Given the description of an element on the screen output the (x, y) to click on. 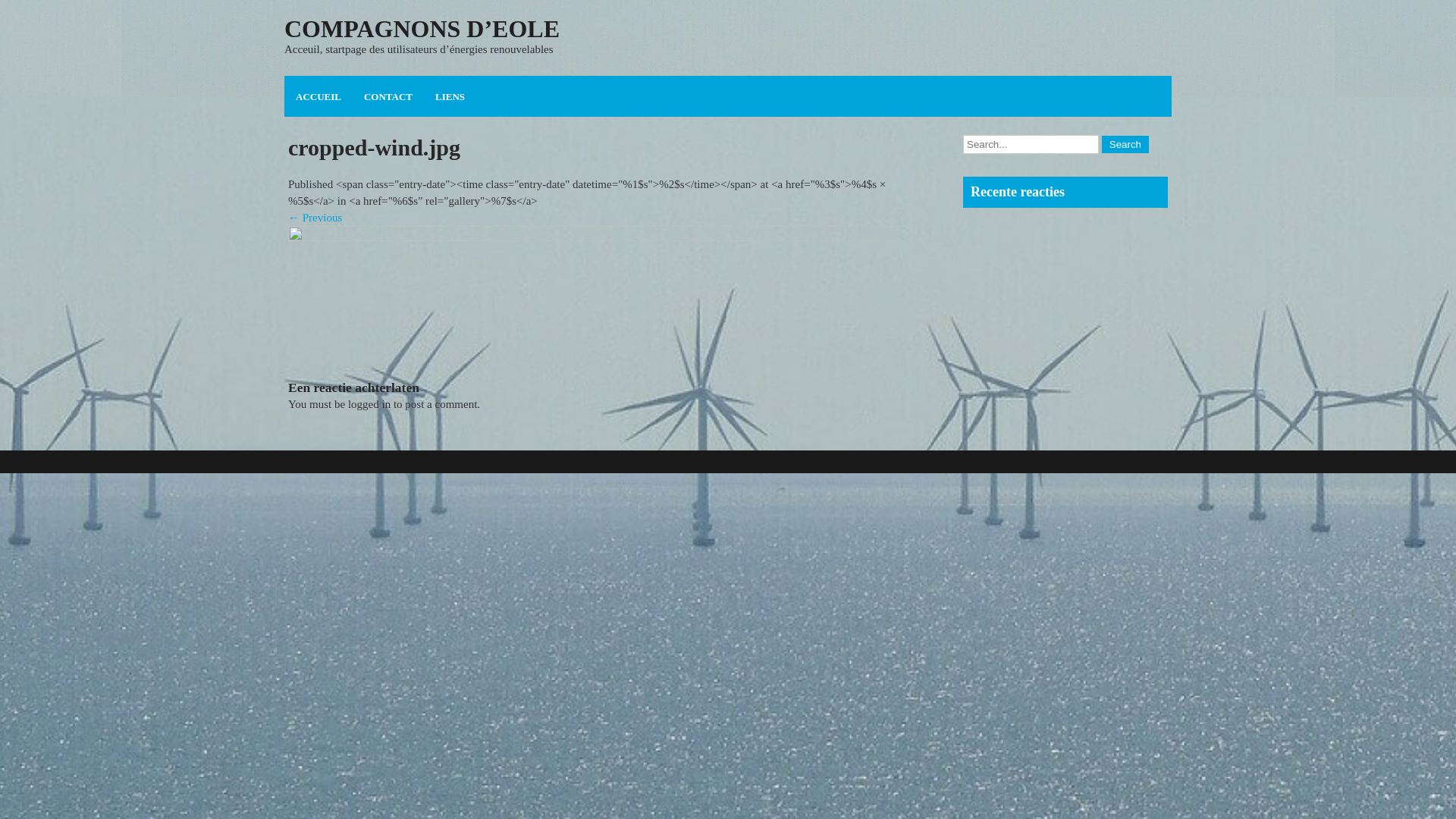
Search Element type: text (1124, 144)
LIENS Element type: text (449, 96)
CONTACT Element type: text (387, 96)
ACCUEIL Element type: text (318, 96)
